Given the description of an element on the screen output the (x, y) to click on. 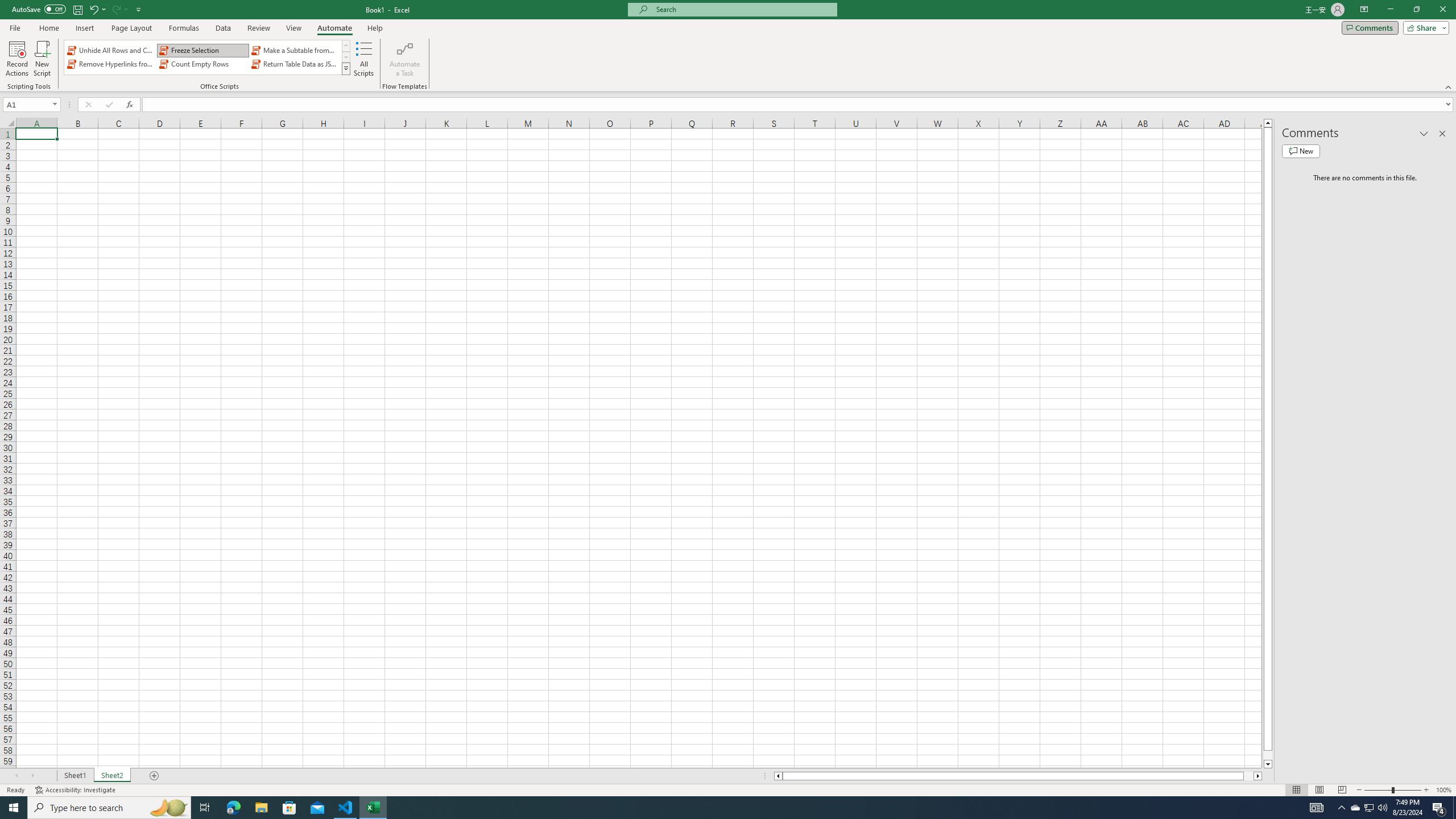
New comment (1300, 151)
Freeze Selection (202, 50)
